Given the description of an element on the screen output the (x, y) to click on. 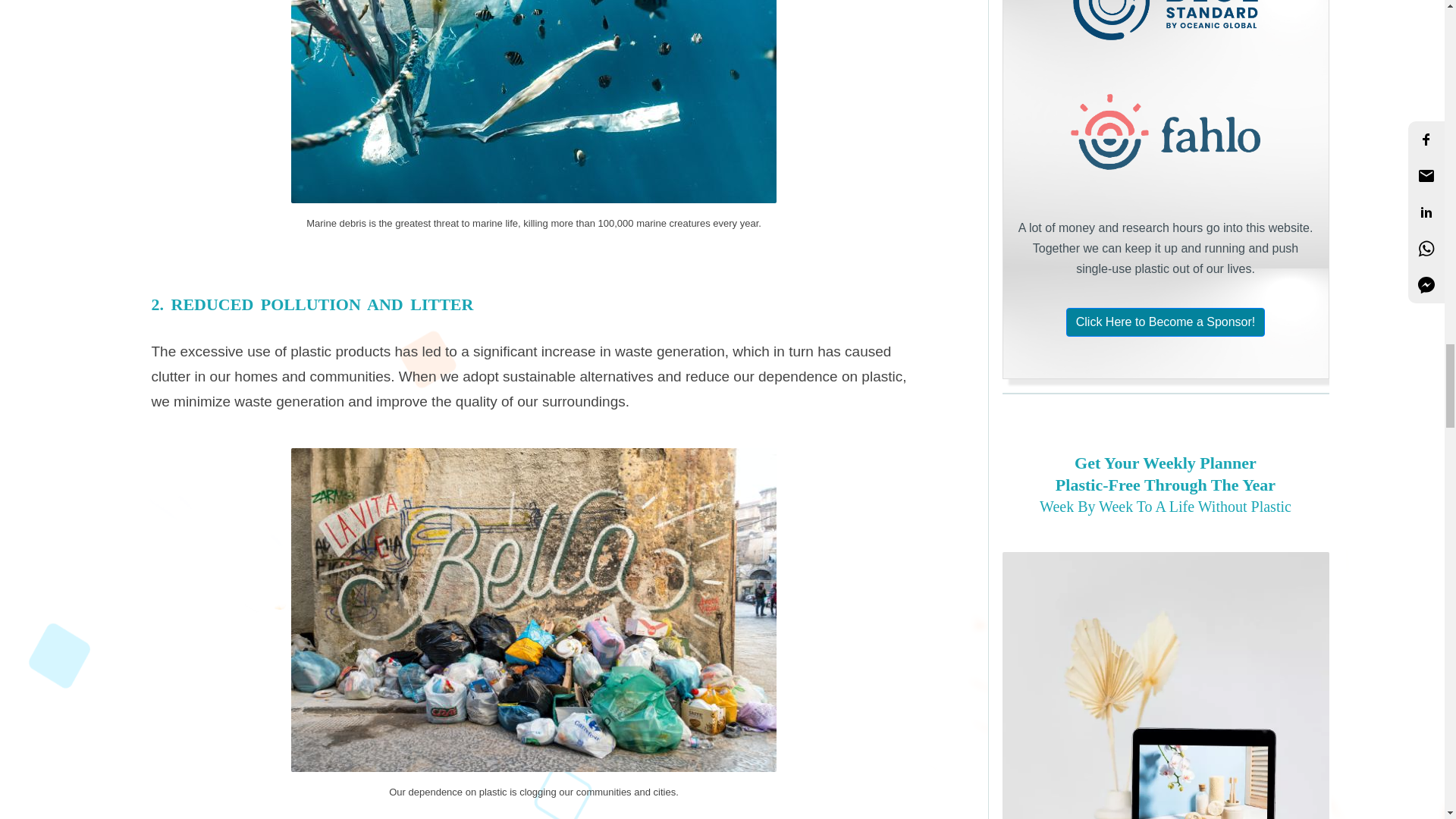
Blue Logo 500px (1165, 22)
